Given the description of an element on the screen output the (x, y) to click on. 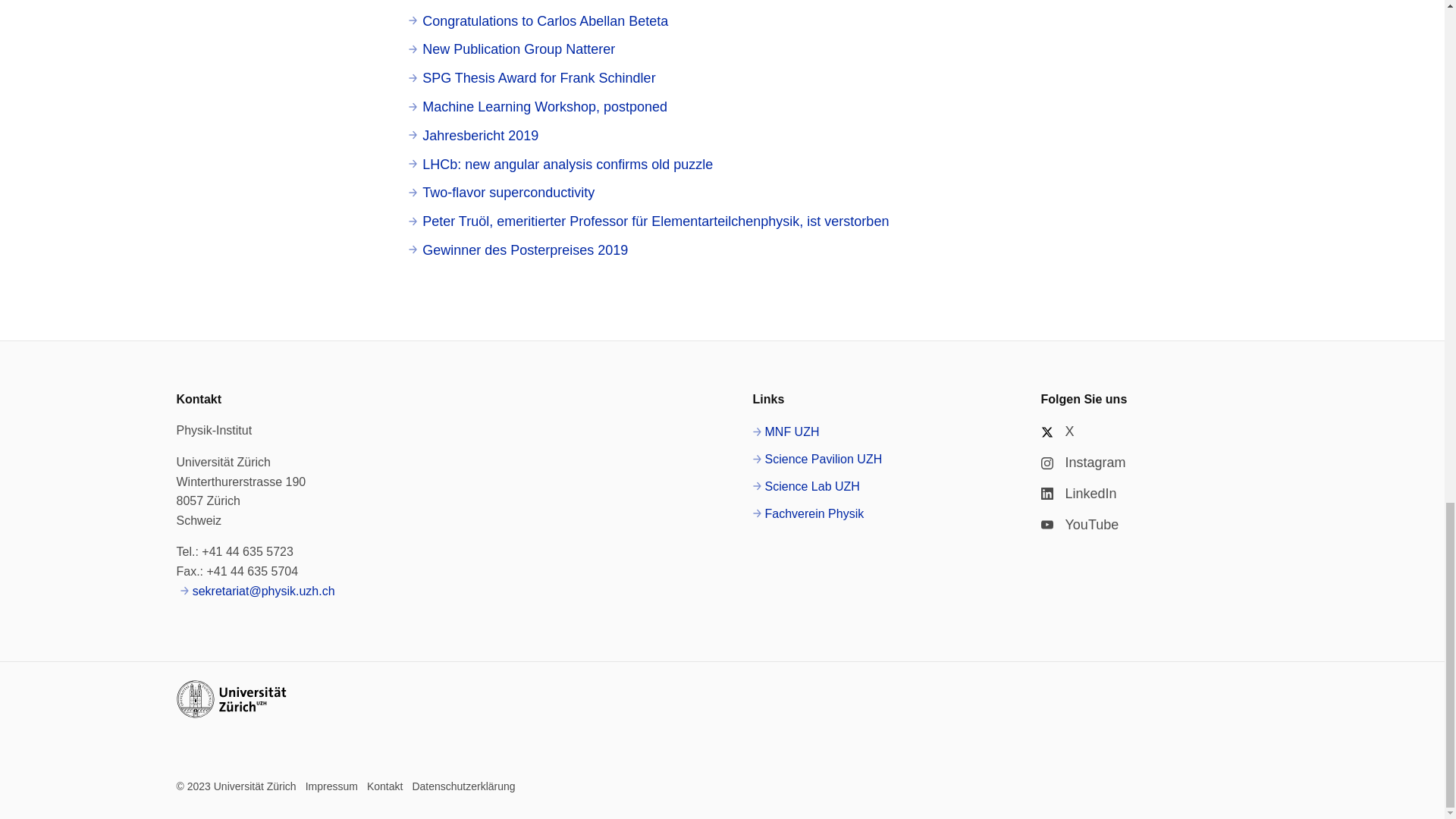
Fachverein Physik (807, 514)
MNF UZH (785, 432)
Science Lab UZH (805, 486)
Science Pavilion UZH (817, 459)
